Given the description of an element on the screen output the (x, y) to click on. 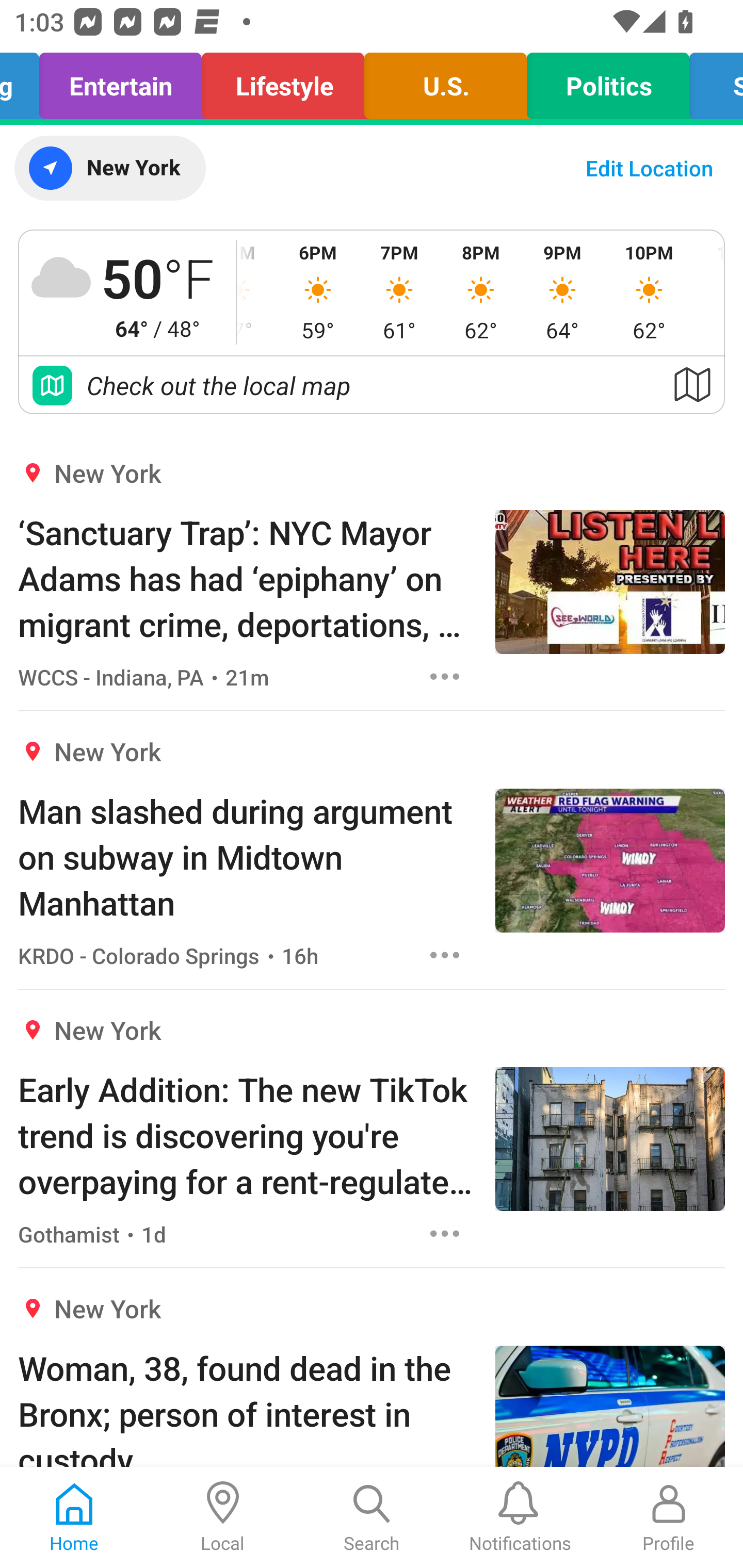
Entertain (120, 81)
Lifestyle (282, 81)
U.S. (445, 81)
Politics (607, 81)
New York (109, 168)
Edit Location (648, 168)
5PM 57° (257, 291)
6PM 59° (317, 291)
7PM 61° (398, 291)
8PM 62° (480, 291)
9PM 64° (562, 291)
10PM 62° (648, 291)
Check out the local map (371, 384)
Options (444, 676)
Options (444, 954)
Options (444, 1233)
Local (222, 1517)
Search (371, 1517)
Notifications (519, 1517)
Profile (668, 1517)
